Given the description of an element on the screen output the (x, y) to click on. 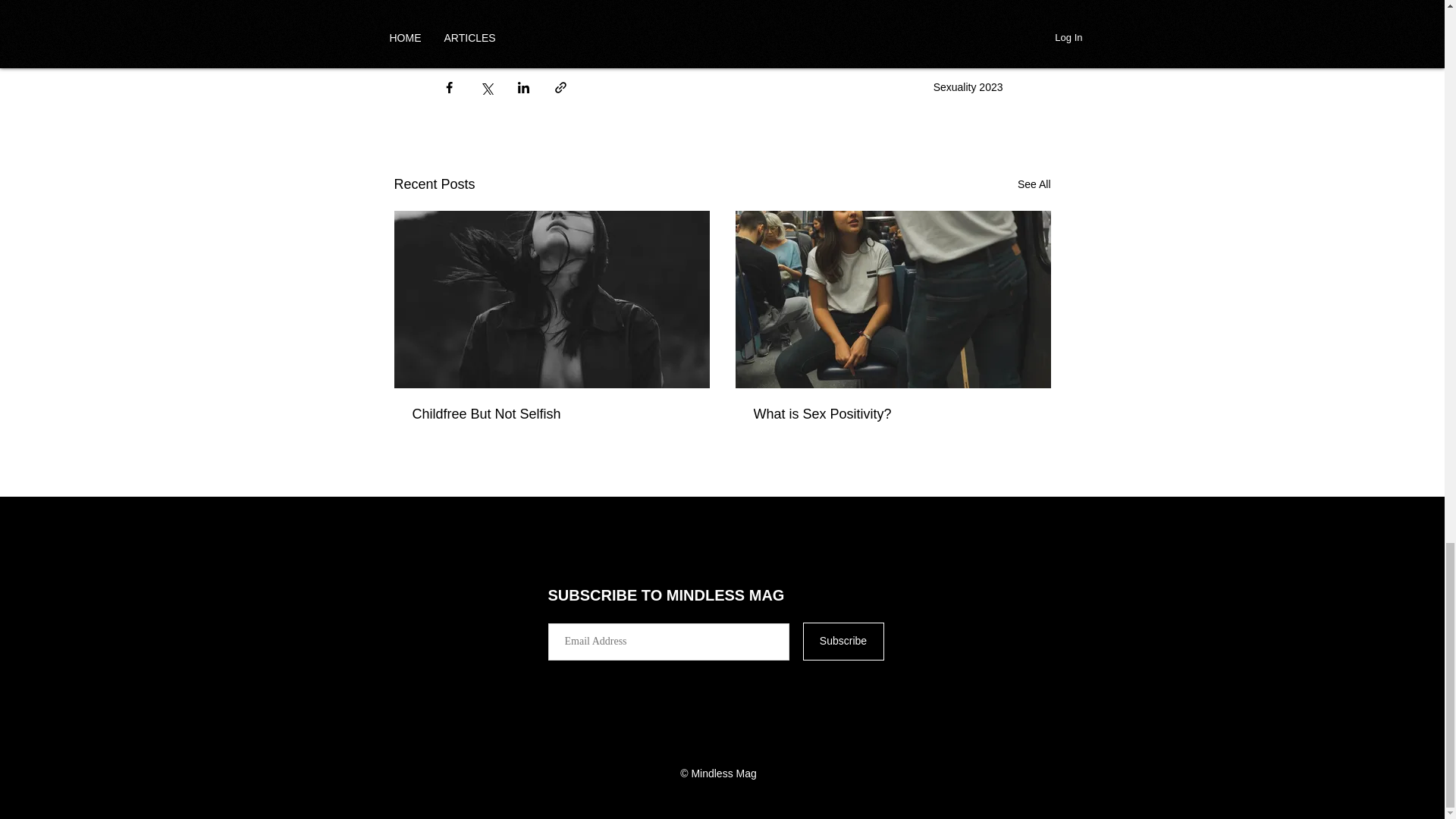
Childfree But Not Selfish (551, 414)
vaginismus (477, 29)
sexuality (471, 6)
therapy (665, 6)
freedom (727, 6)
sexual empowerment (822, 6)
health (607, 6)
pleasure (919, 6)
See All (1034, 184)
Sexuality 2023 (968, 87)
happiness (542, 6)
